Given the description of an element on the screen output the (x, y) to click on. 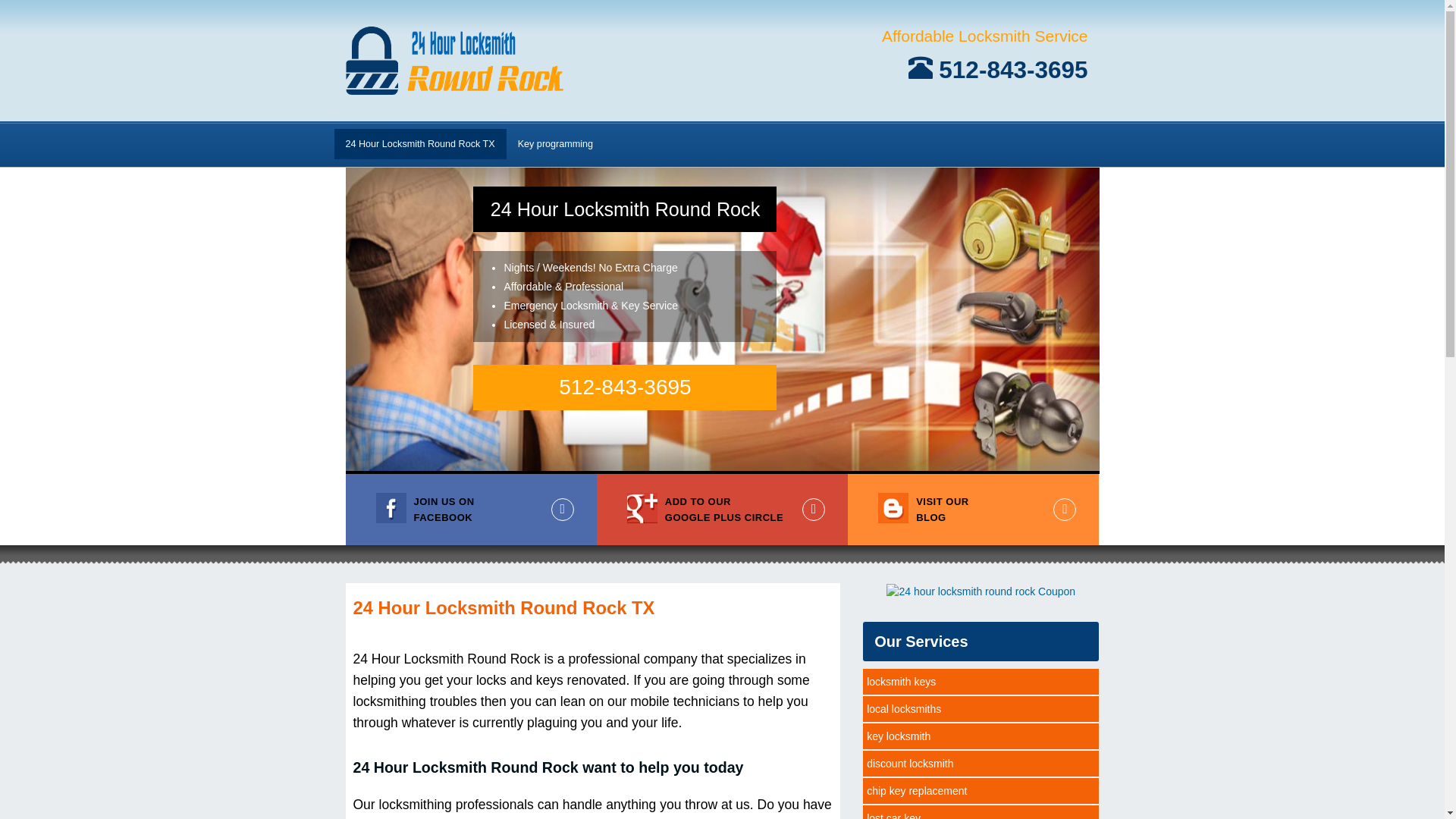
Key programming Element type: text (555, 143)
24 hour locksmith round rock Element type: hover (454, 59)
512-843-3695 Element type: text (998, 69)
ADD TO OUR
GOOGLE PLUS CIRCLE Element type: text (721, 509)
VISIT OUR
BLOG Element type: text (972, 509)
JOIN US ON
FACEBOOK Element type: text (470, 509)
24 Hour Locksmith Round Rock TX Element type: text (419, 143)
